Given the description of an element on the screen output the (x, y) to click on. 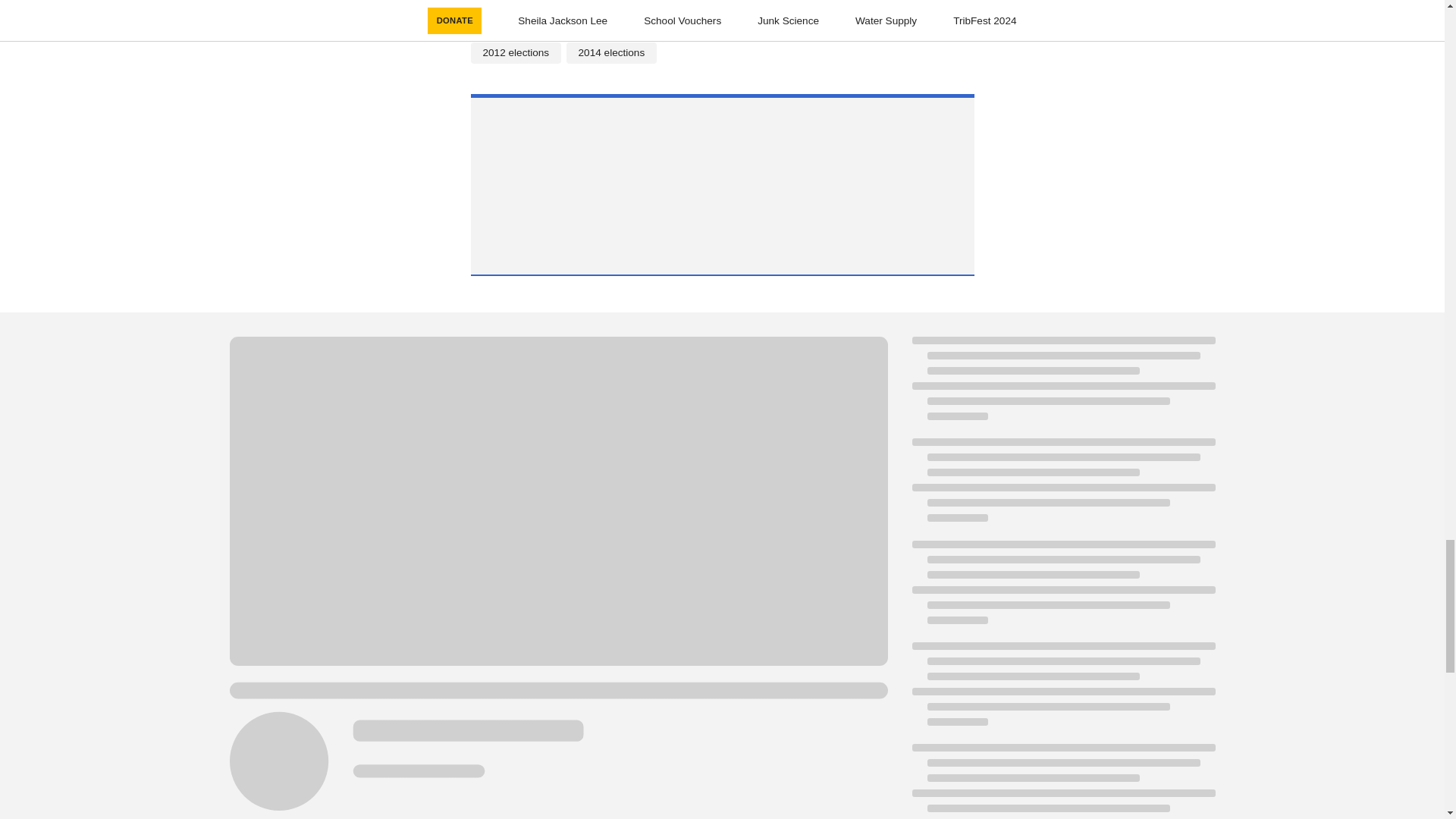
Loading indicator (1062, 589)
Loading indicator (1062, 385)
Loading indicator (1062, 781)
Loading indicator (1062, 691)
Loading indicator (1062, 487)
